Given the description of an element on the screen output the (x, y) to click on. 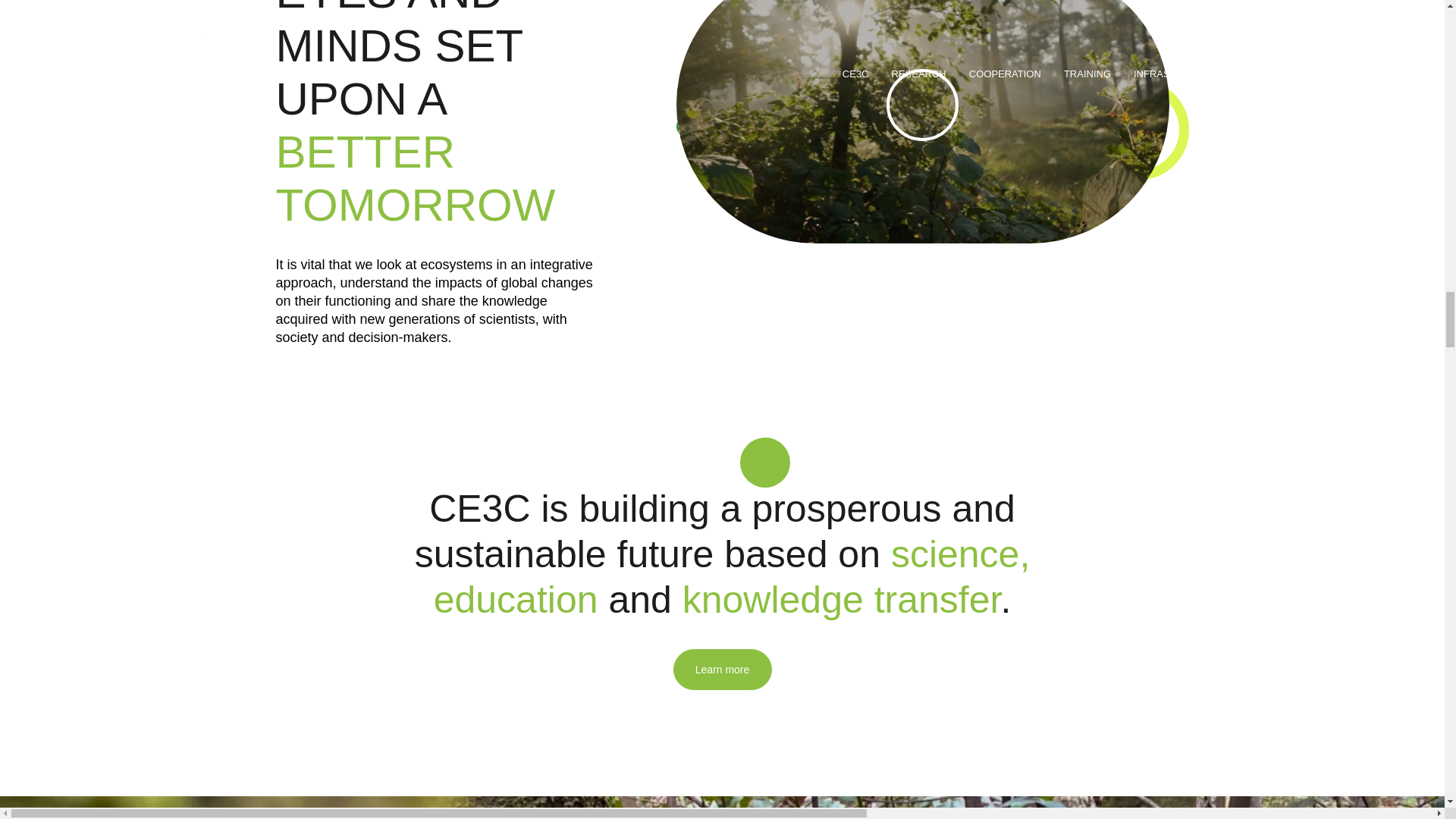
Research Groups (722, 807)
